Given the description of an element on the screen output the (x, y) to click on. 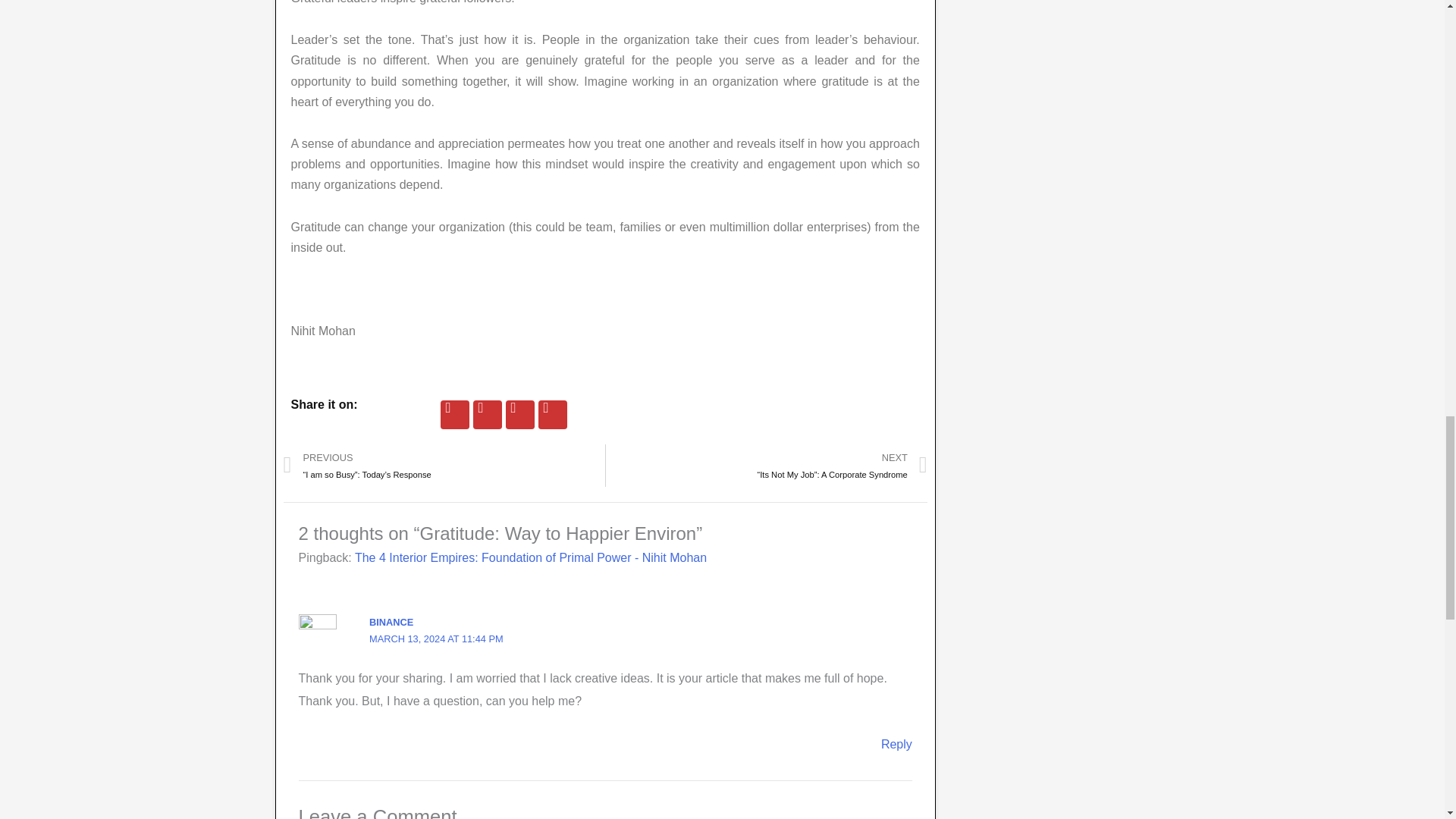
MARCH 13, 2024 AT 11:44 PM (436, 638)
Reply (896, 744)
Facebook-f (454, 414)
Youtube (552, 414)
Linkedin (519, 414)
BINANCE (391, 622)
Whatsapp (487, 414)
